Given the description of an element on the screen output the (x, y) to click on. 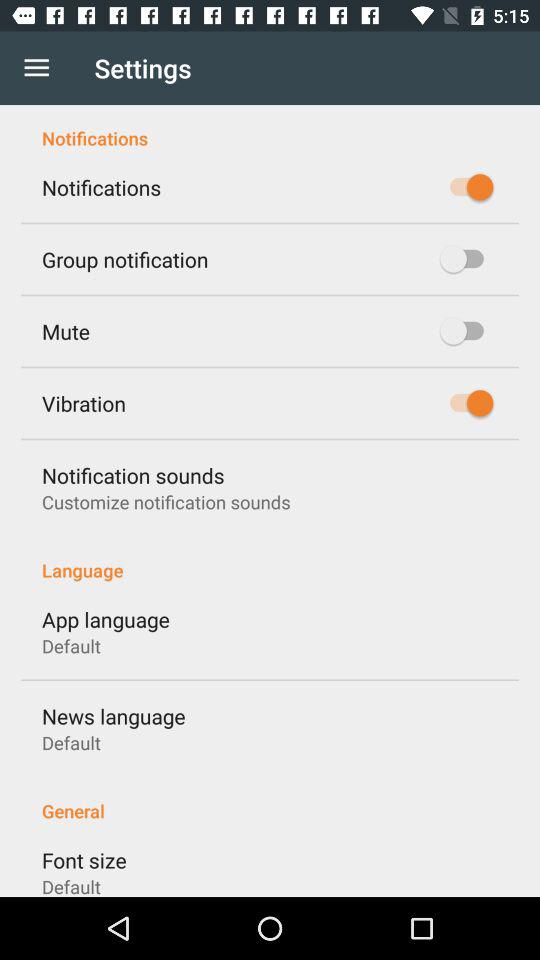
launch the group notification item (125, 259)
